Given the description of an element on the screen output the (x, y) to click on. 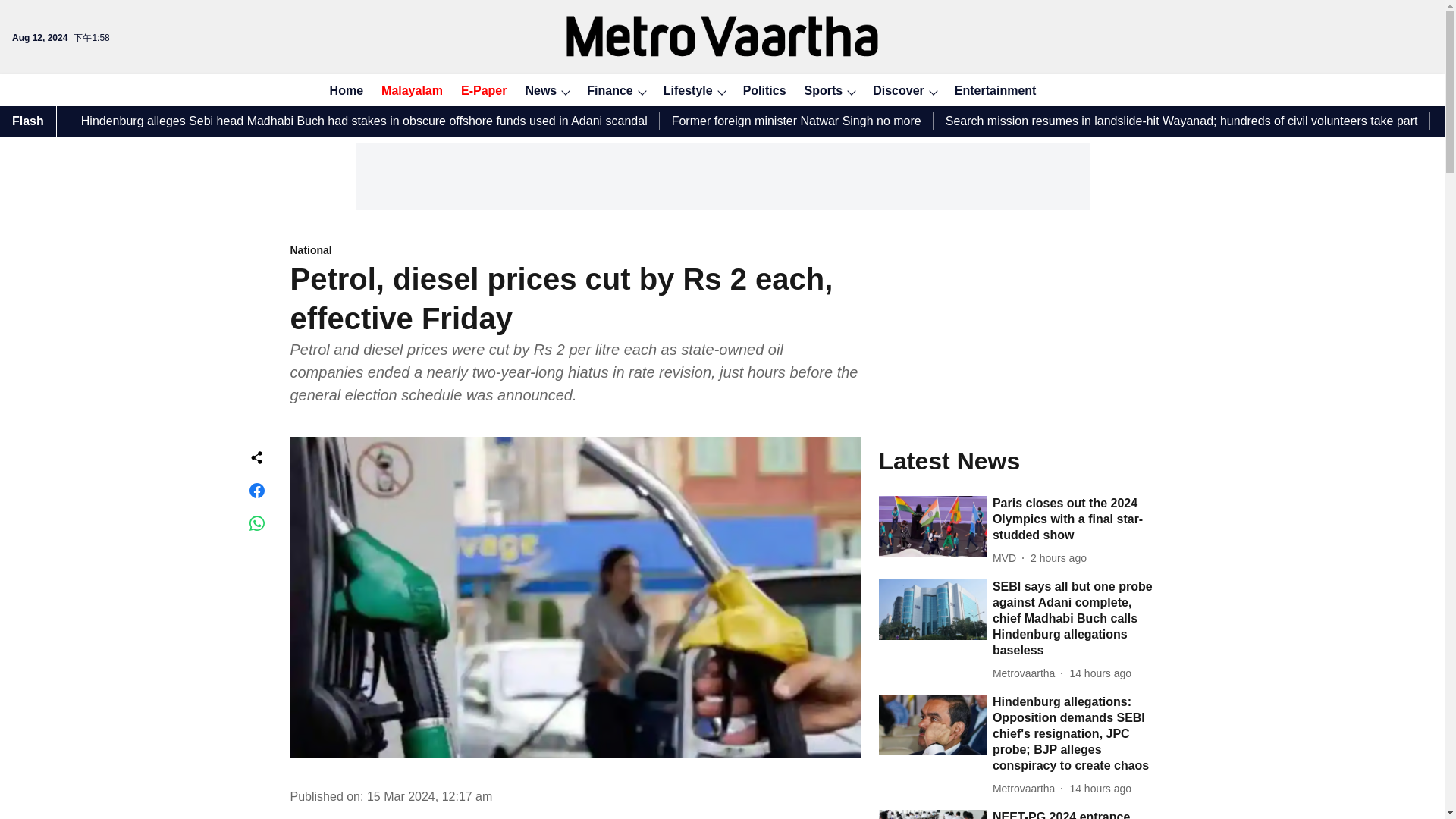
E-Paper (478, 91)
Finance (604, 91)
Lifestyle (683, 91)
MVD (1007, 558)
2024-08-11 16:06 (1099, 788)
National (574, 251)
Malayalam (407, 91)
